Given the description of an element on the screen output the (x, y) to click on. 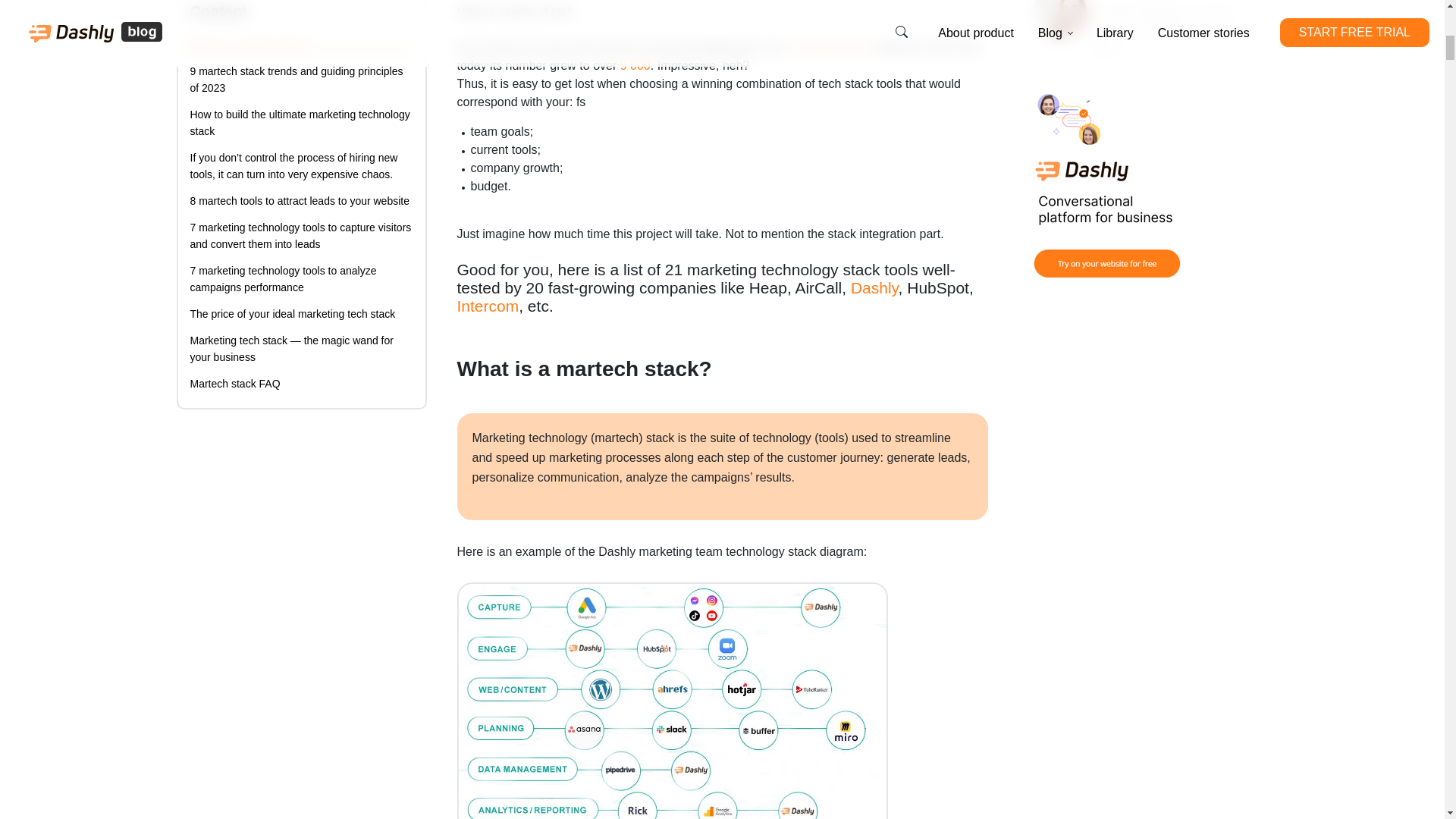
Dashly (874, 287)
9 martech stack trends and guiding principles of 2023 (296, 79)
Martech stack FAQ (234, 383)
Intercom (487, 305)
The price of your ideal marketing tech stack (291, 313)
9 000 (635, 65)
marketing team (831, 47)
How to build the ultimate marketing technology stack (299, 122)
What is a martech stack? (248, 44)
8 martech tools to attract leads to your website (299, 200)
